Given the description of an element on the screen output the (x, y) to click on. 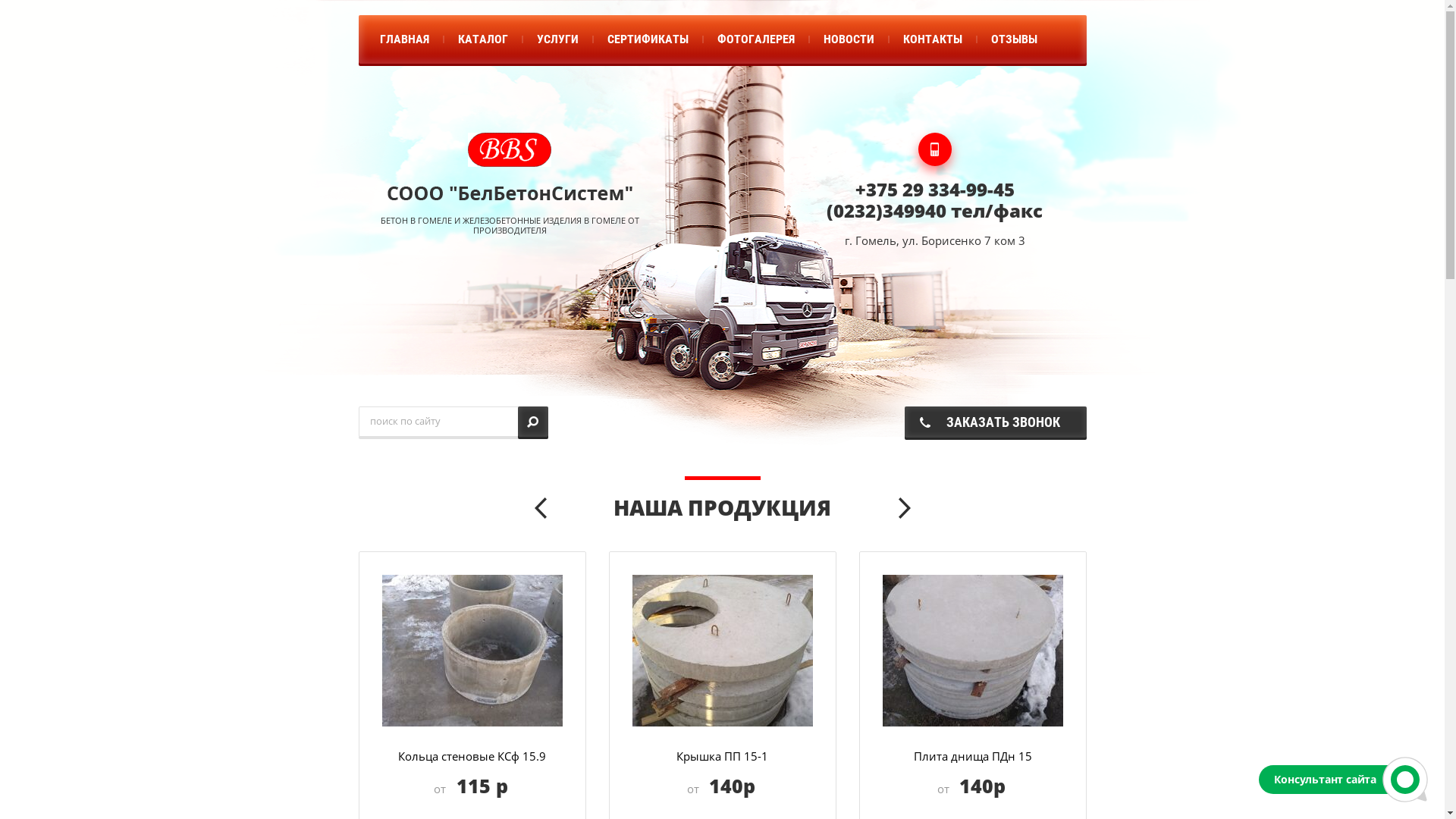
+375 29 334-99-45 Element type: text (934, 188)
